Given the description of an element on the screen output the (x, y) to click on. 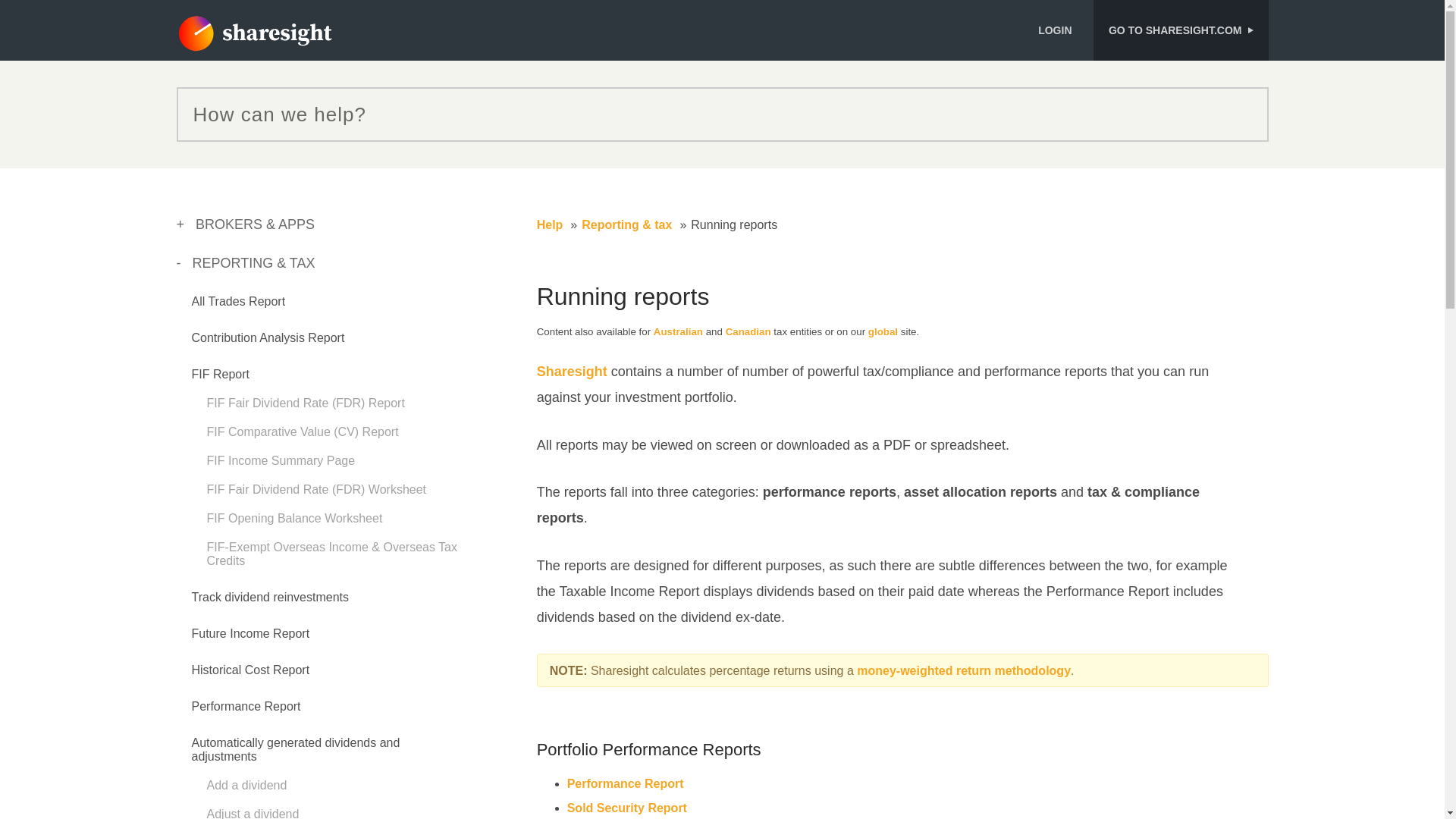
Historical Cost Report (249, 669)
FIF Report (219, 373)
Sharesight New Zealand Help (253, 34)
Track dividend reinvestments (269, 596)
All Trades Report (237, 300)
FIF Opening Balance Worksheet (293, 517)
Contribution Analysis Report (266, 337)
Automatically generated dividends and adjustments (294, 749)
Adjust a dividend (252, 813)
Performance Report (244, 706)
FIF Income Summary Page (280, 460)
Future Income Report (249, 633)
GO TO SHARESIGHT.COM (1180, 30)
LOGIN (1060, 30)
Add a dividend (246, 784)
